Given the description of an element on the screen output the (x, y) to click on. 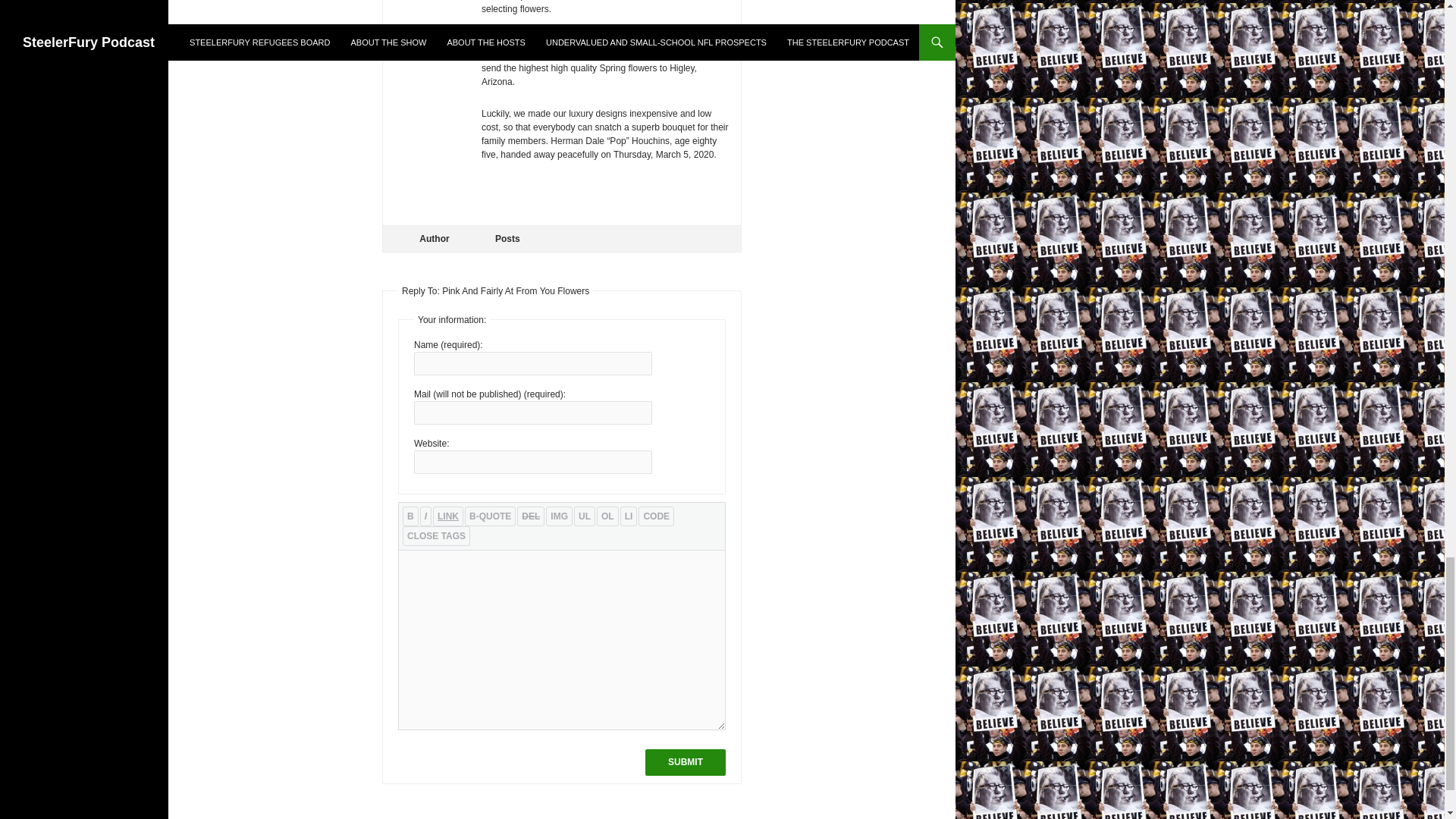
link (447, 516)
ul (584, 516)
code (656, 516)
b-quote (489, 516)
SUBMIT (685, 762)
Close all open tags (436, 536)
del (530, 516)
ol (607, 516)
close tags (436, 536)
img (559, 516)
